Given the description of an element on the screen output the (x, y) to click on. 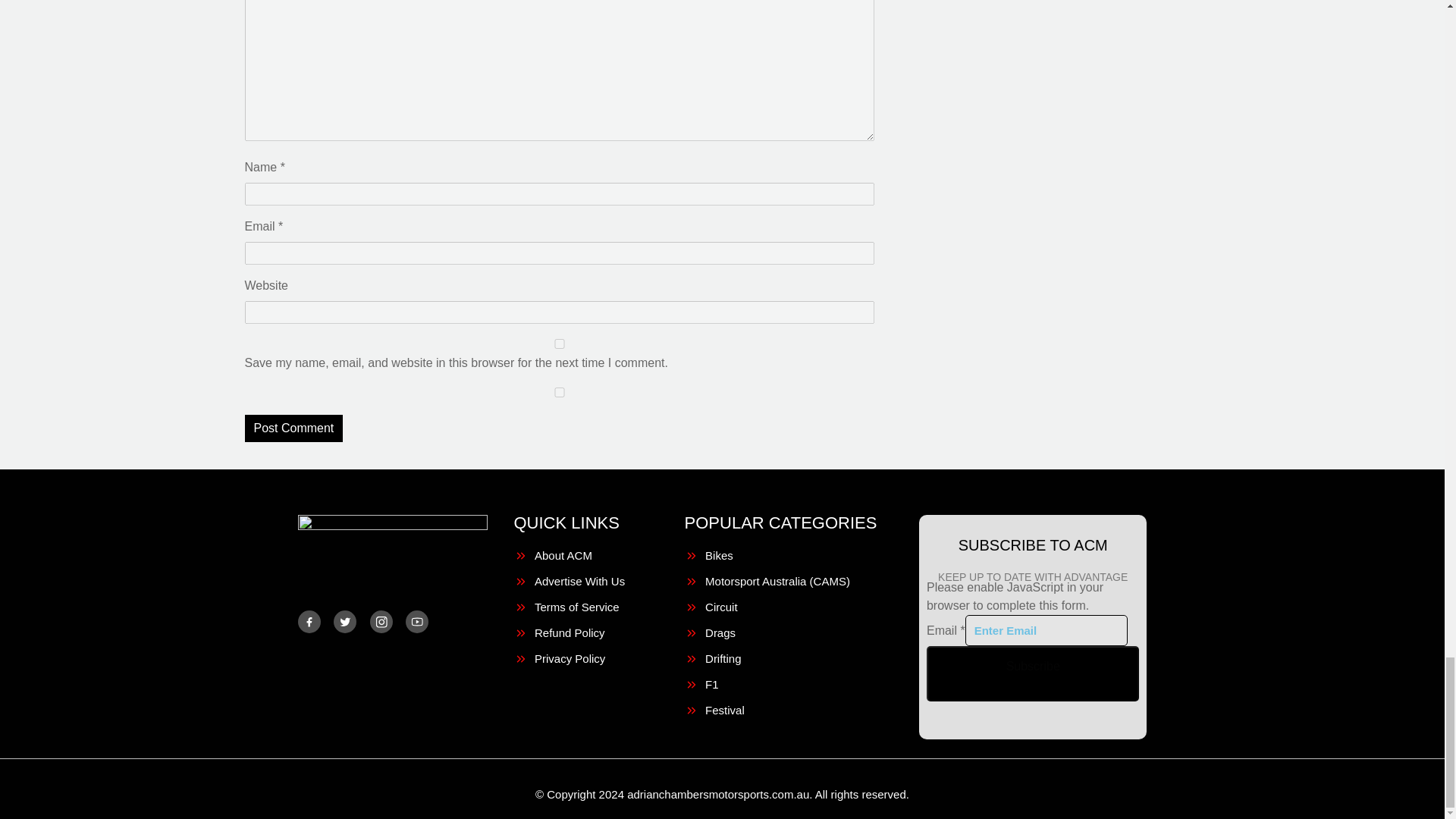
yes (558, 343)
Post Comment (293, 428)
Post Comment (293, 428)
yes (558, 392)
